Given the description of an element on the screen output the (x, y) to click on. 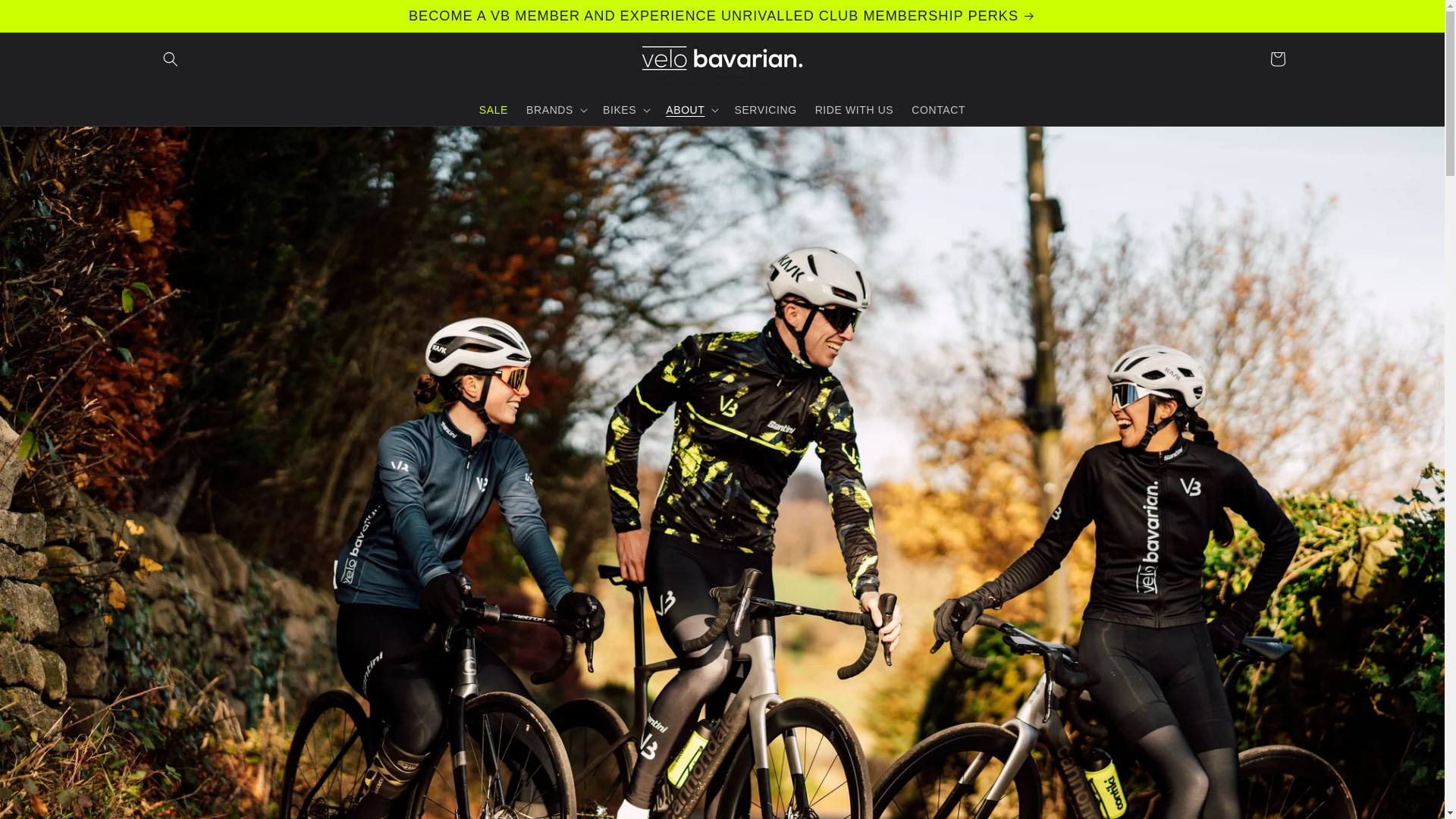
SALE (493, 110)
SKIP TO CONTENT (45, 17)
